Given the description of an element on the screen output the (x, y) to click on. 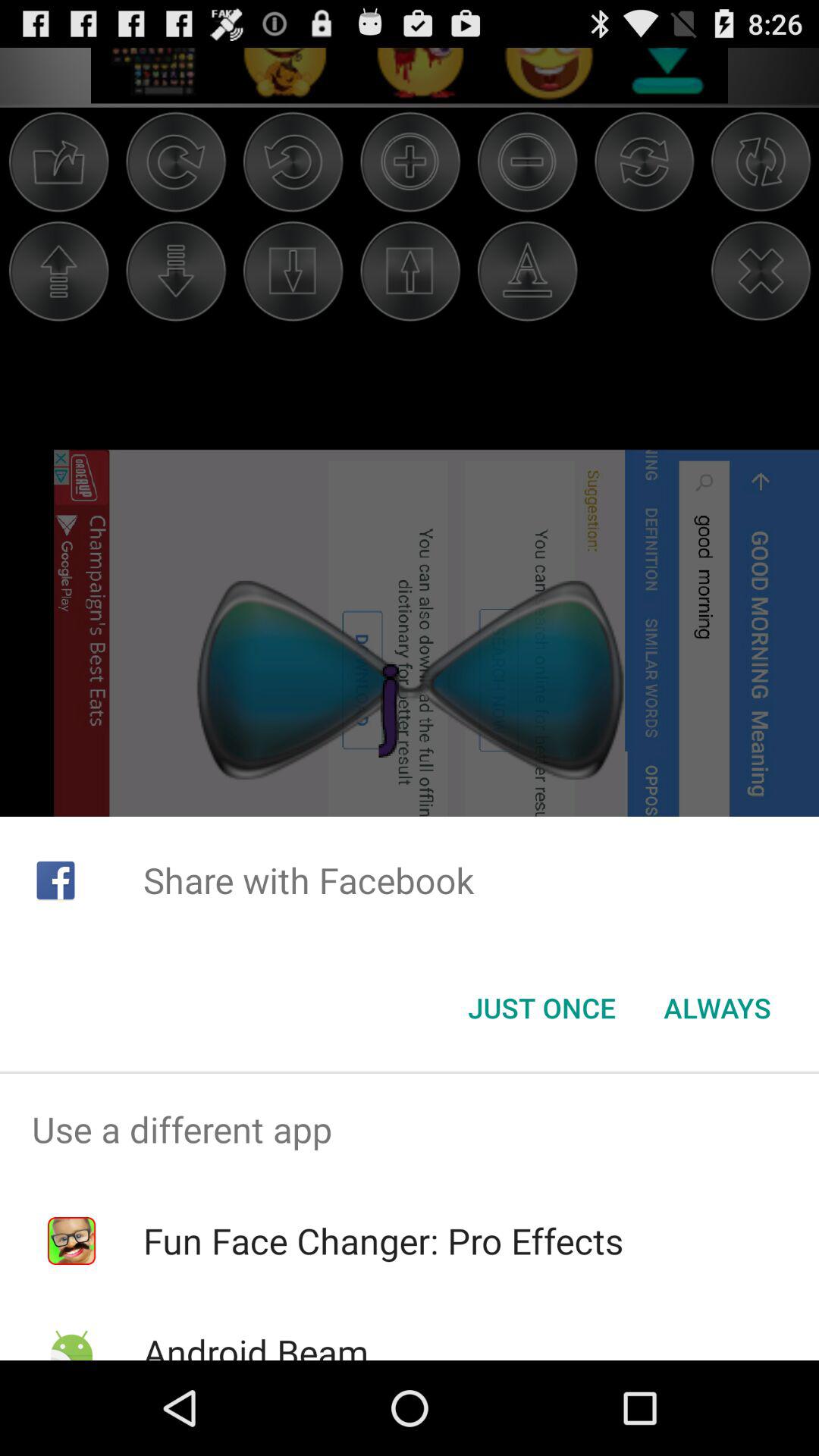
jump to fun face changer icon (383, 1240)
